Given the description of an element on the screen output the (x, y) to click on. 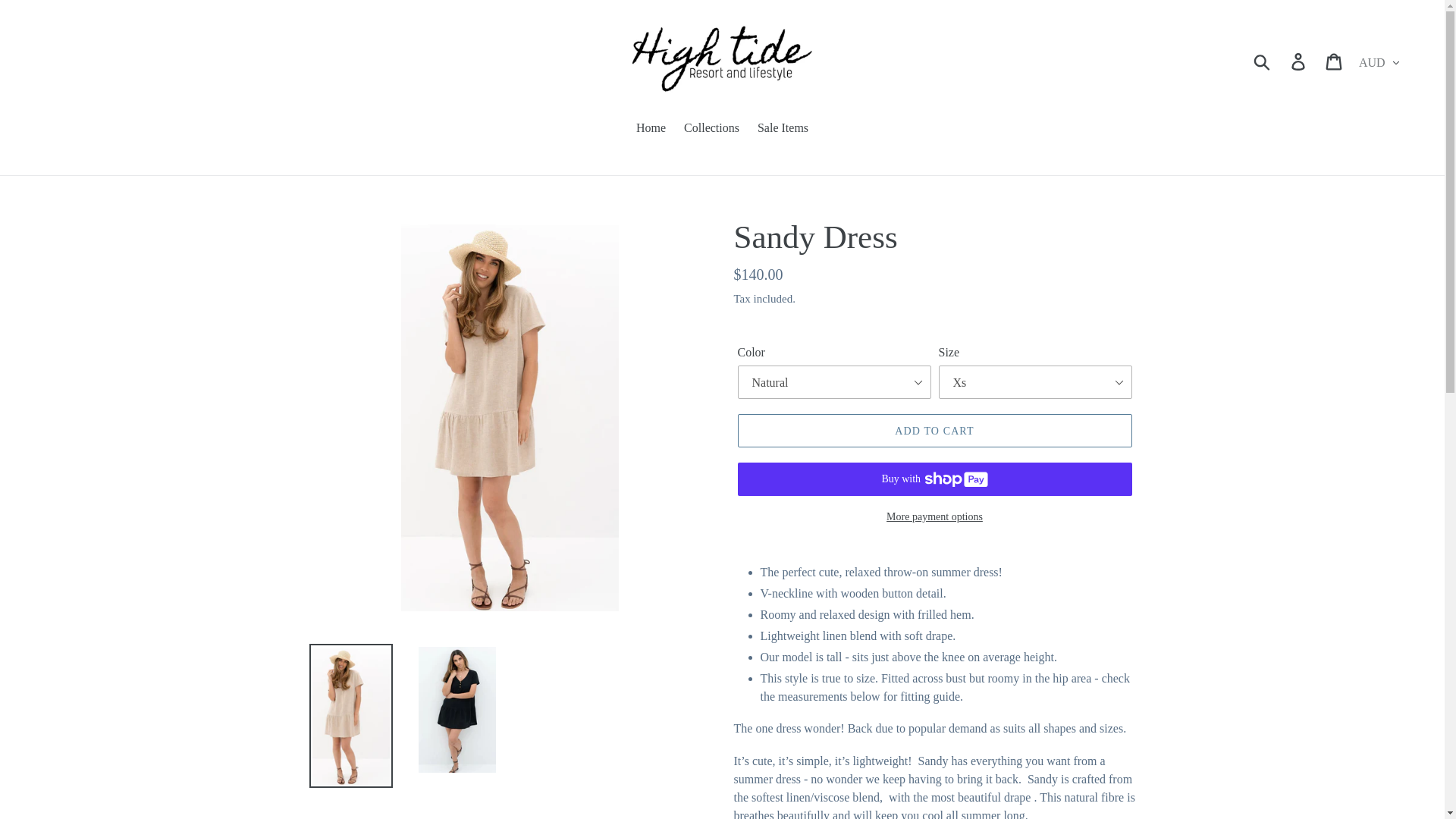
Log in (1299, 61)
ADD TO CART (933, 430)
Cart (1334, 61)
Submit (1262, 61)
More payment options (933, 516)
Collections (711, 128)
Sale Items (782, 128)
Home (650, 128)
